Given the description of an element on the screen output the (x, y) to click on. 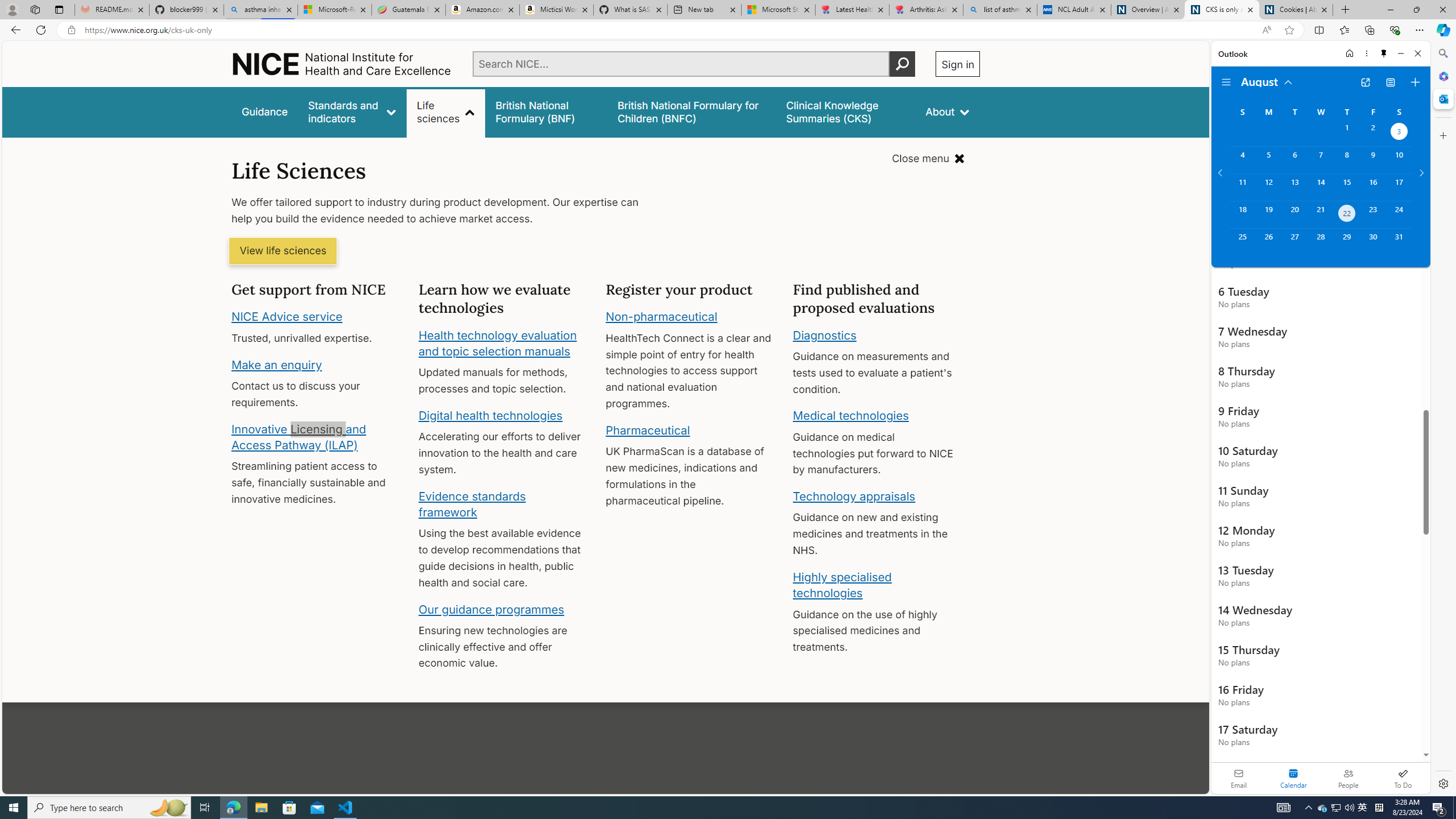
Health technology evaluation and topic selection manuals (496, 342)
asthma inhaler - Search (260, 9)
Close menu (927, 159)
View life sciences (282, 251)
Technology appraisals (854, 495)
About (947, 111)
Sign in (957, 63)
People (1347, 777)
